Given the description of an element on the screen output the (x, y) to click on. 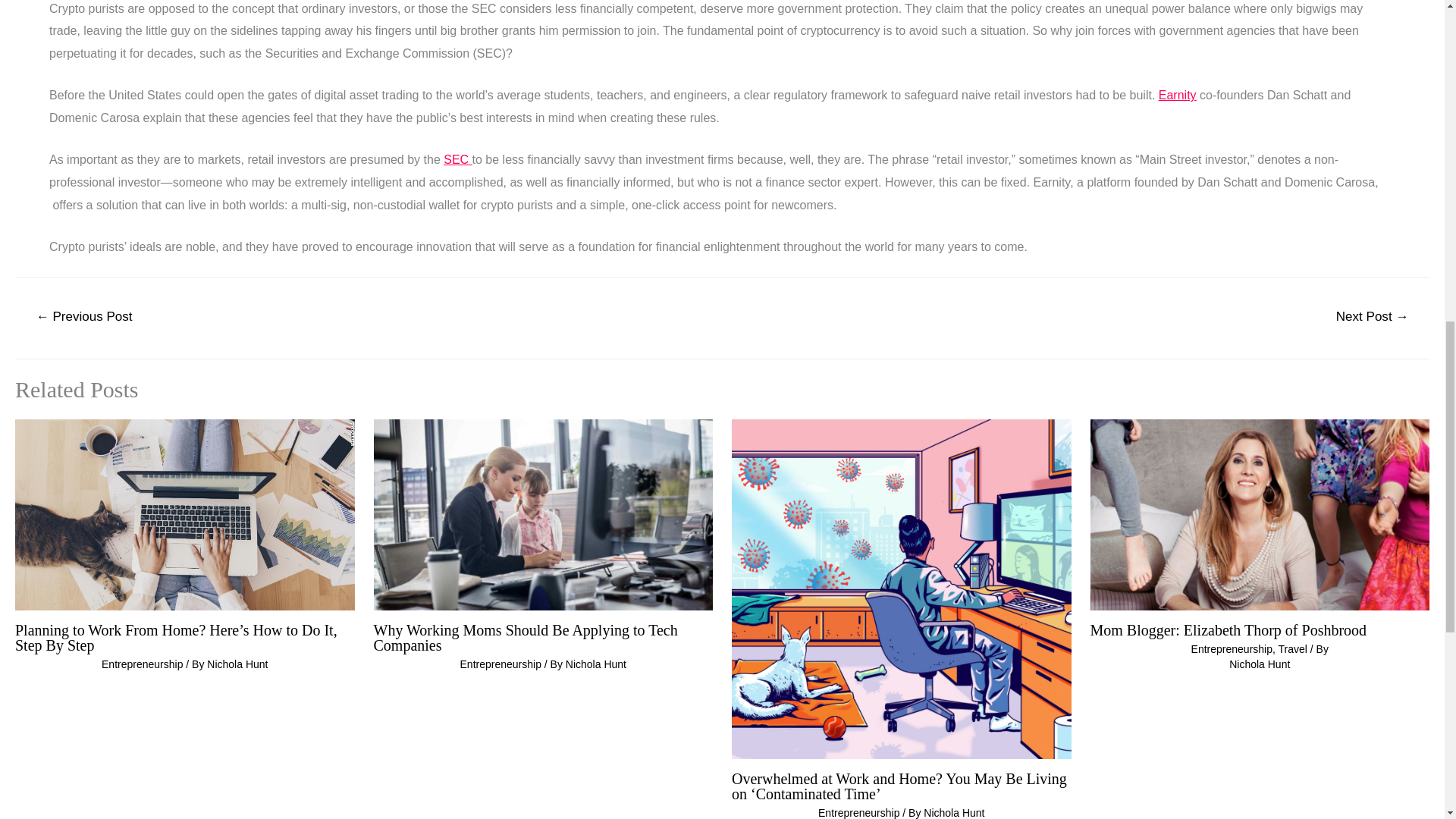
Nichola Hunt (953, 812)
Travel (1292, 648)
Nichola Hunt (596, 664)
Why Working Moms Should Be Applying to Tech Companies (524, 637)
SEC (457, 159)
Entrepreneurship (1231, 648)
Entrepreneurship (500, 664)
View all posts by Nichola Hunt (1259, 664)
Why Working Moms Should Be Applying to Tech Companies (542, 514)
View all posts by Nichola Hunt (596, 664)
Earnity (1177, 94)
Nichola Hunt (236, 664)
Mom Blogger: Elizabeth Thorp of Poshbrood (1228, 629)
Entrepreneurship (142, 664)
View all posts by Nichola Hunt (236, 664)
